Given the description of an element on the screen output the (x, y) to click on. 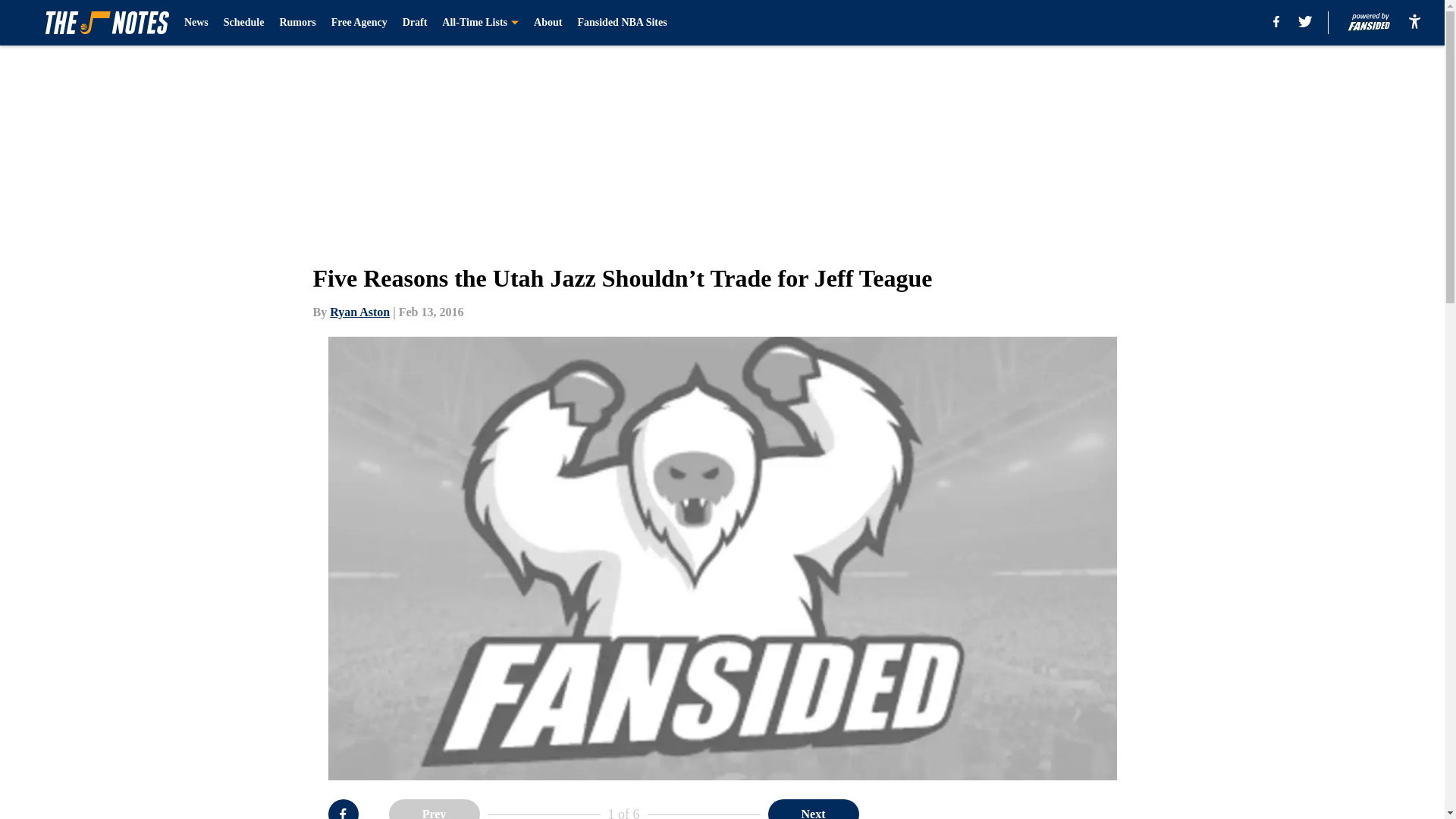
All-Time Lists (480, 22)
Ryan Aston (360, 311)
Rumors (297, 22)
Draft (415, 22)
Free Agency (359, 22)
Schedule (244, 22)
About (548, 22)
Next (813, 809)
Fansided NBA Sites (621, 22)
Prev (433, 809)
News (196, 22)
